Given the description of an element on the screen output the (x, y) to click on. 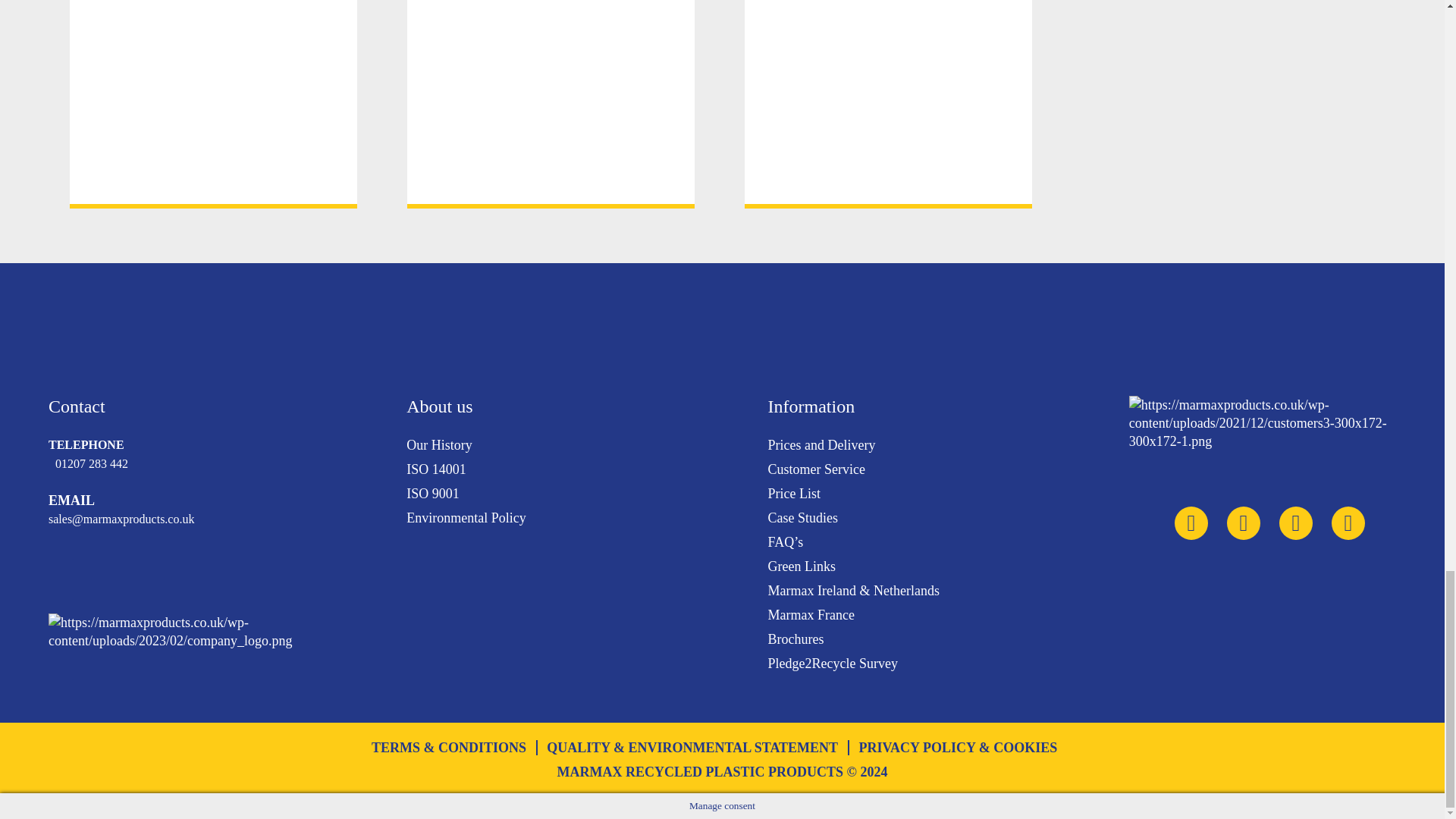
Youtube (1243, 522)
facebook (1348, 522)
linkedin (1296, 522)
twitter (1191, 522)
